Given the description of an element on the screen output the (x, y) to click on. 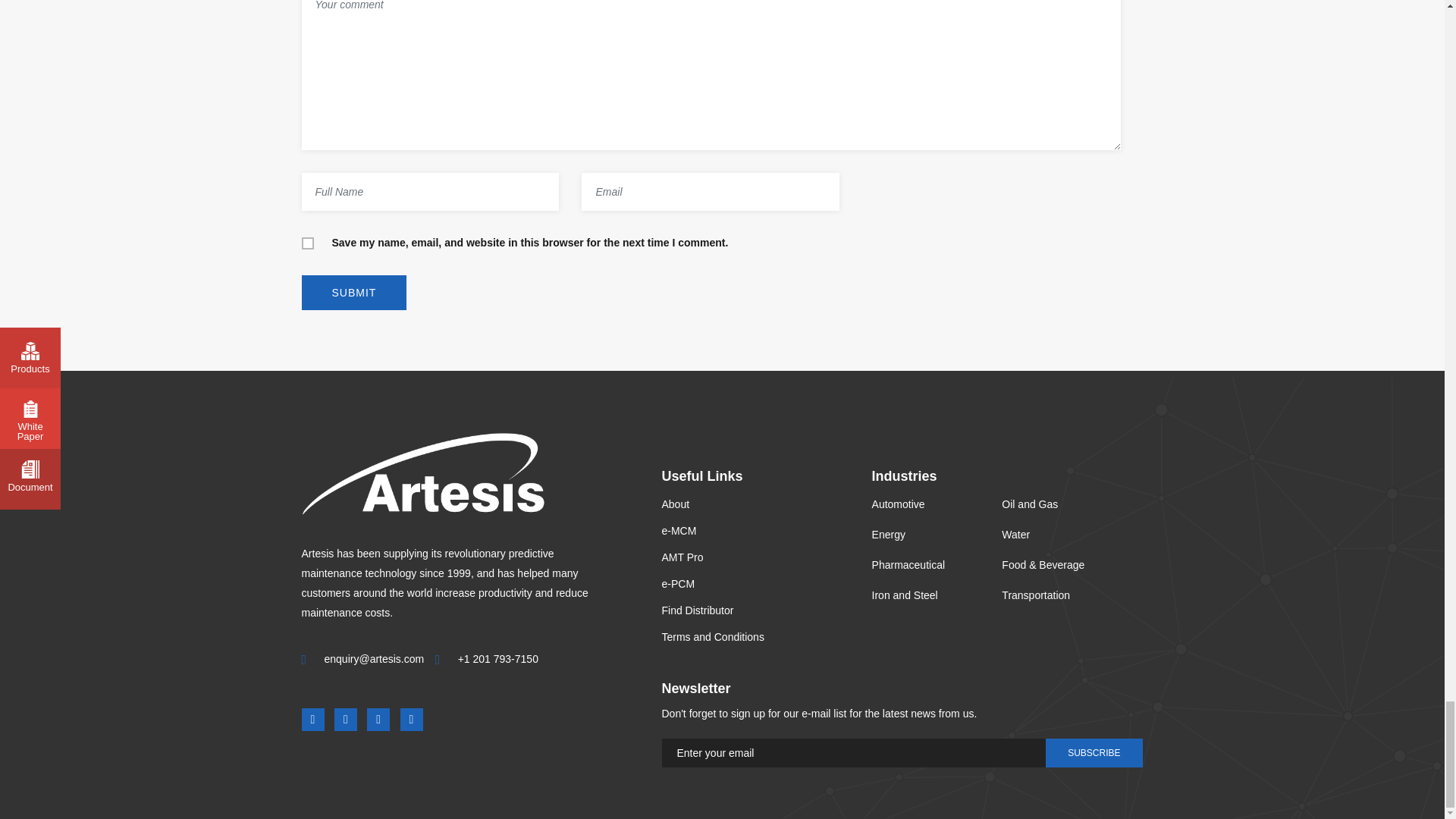
Submit (354, 292)
